Given the description of an element on the screen output the (x, y) to click on. 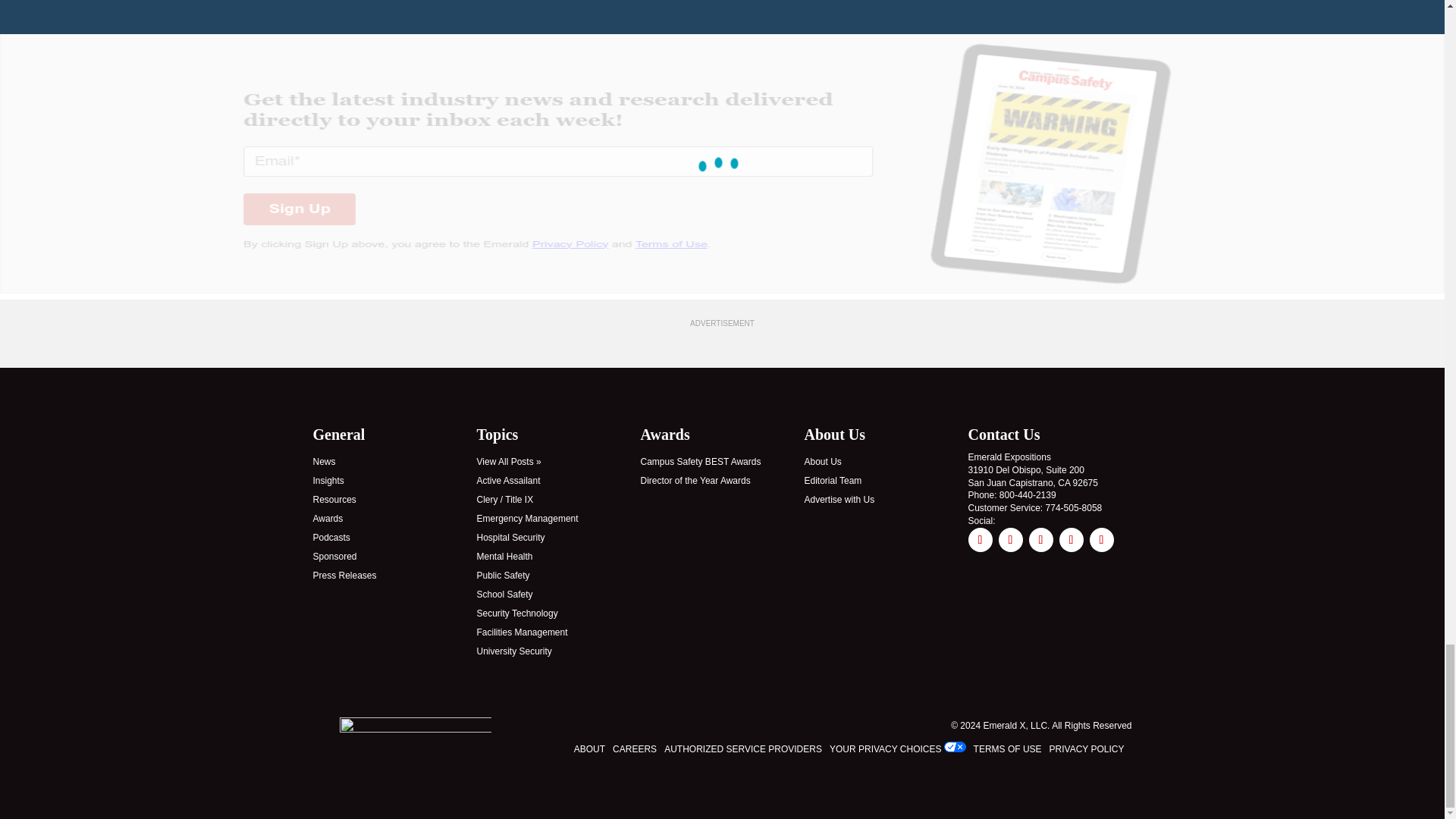
Follow on Facebook (979, 539)
